Given the description of an element on the screen output the (x, y) to click on. 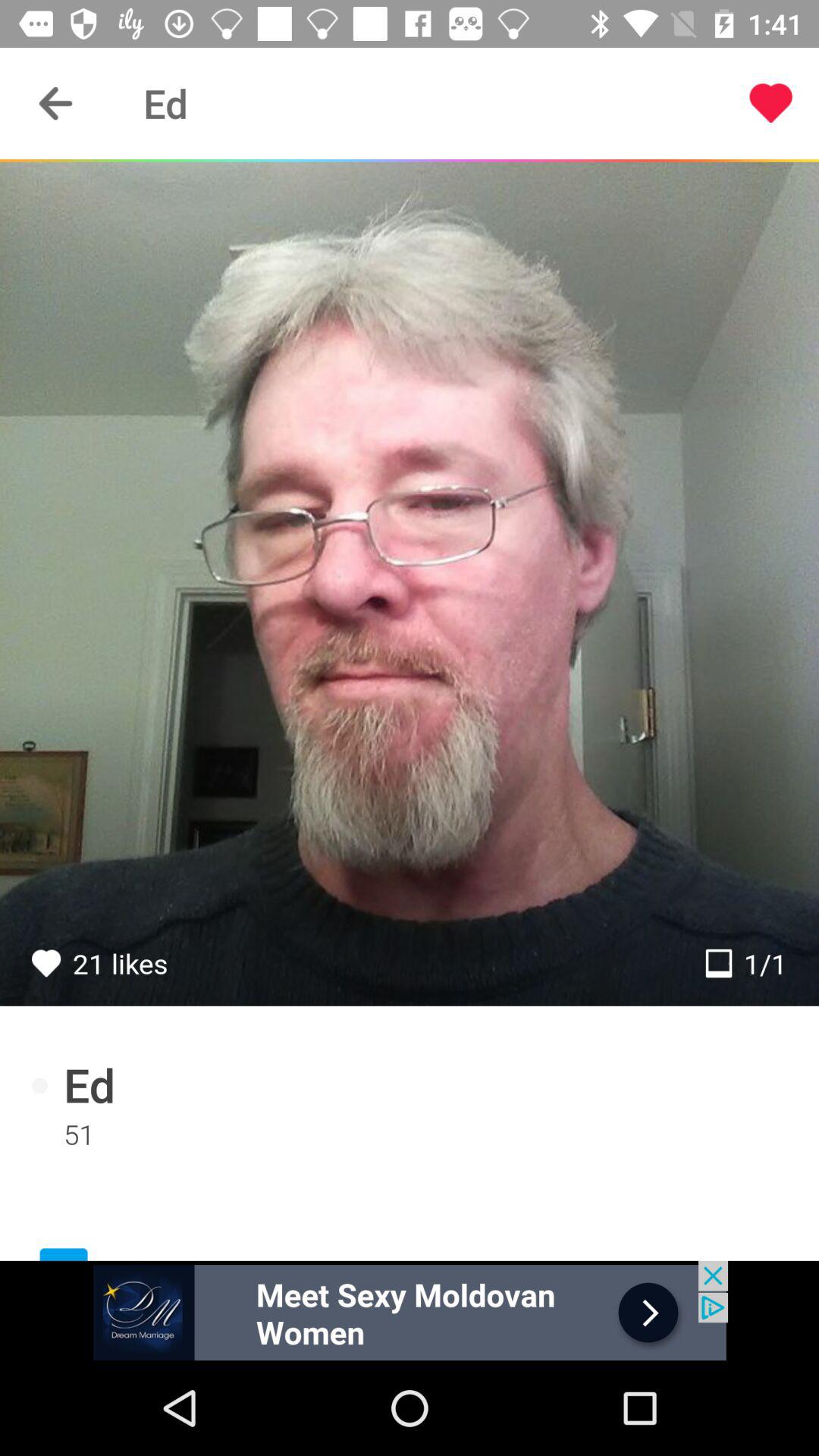
click to go back (55, 103)
